Given the description of an element on the screen output the (x, y) to click on. 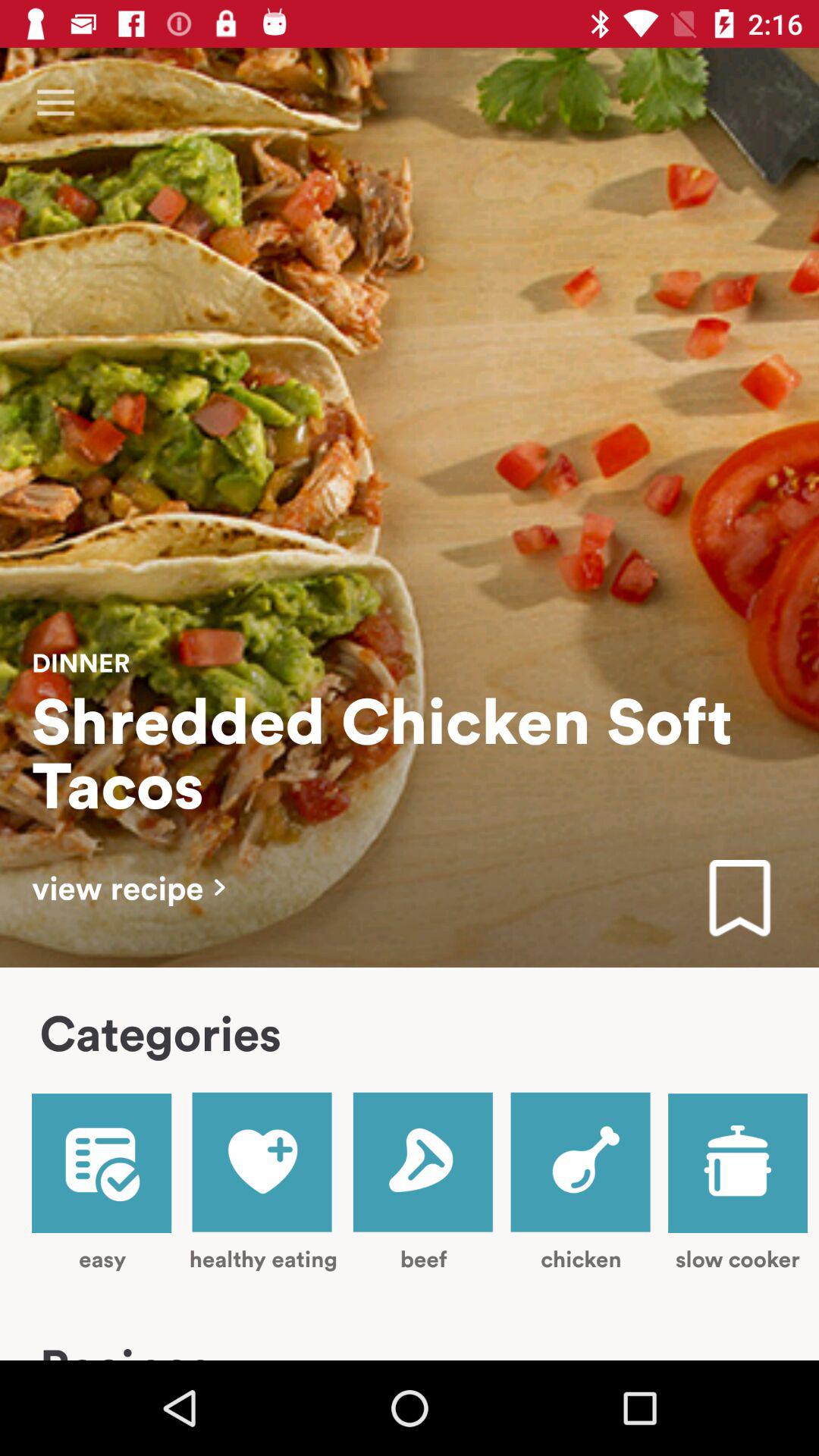
turn off item to the right of the chicken (737, 1182)
